Given the description of an element on the screen output the (x, y) to click on. 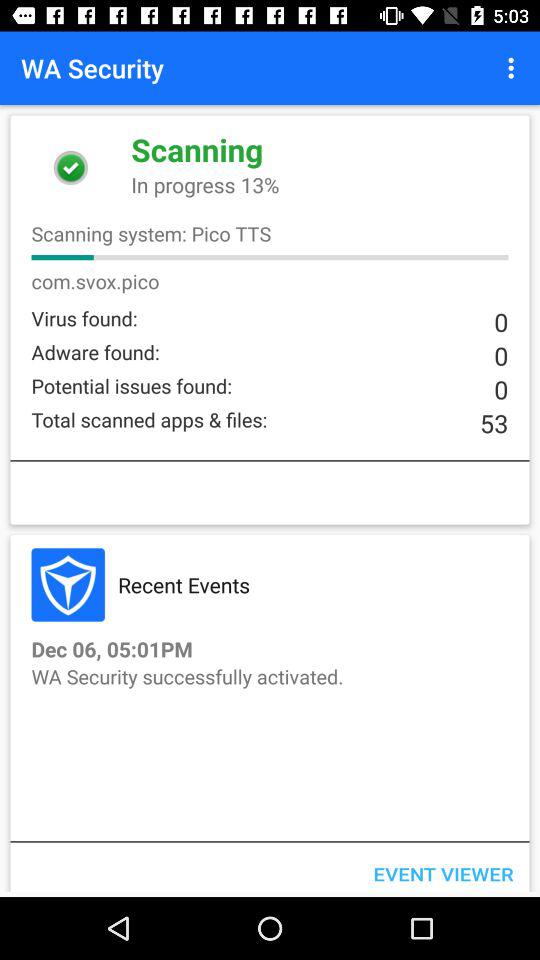
select event viewer icon (443, 869)
